Given the description of an element on the screen output the (x, y) to click on. 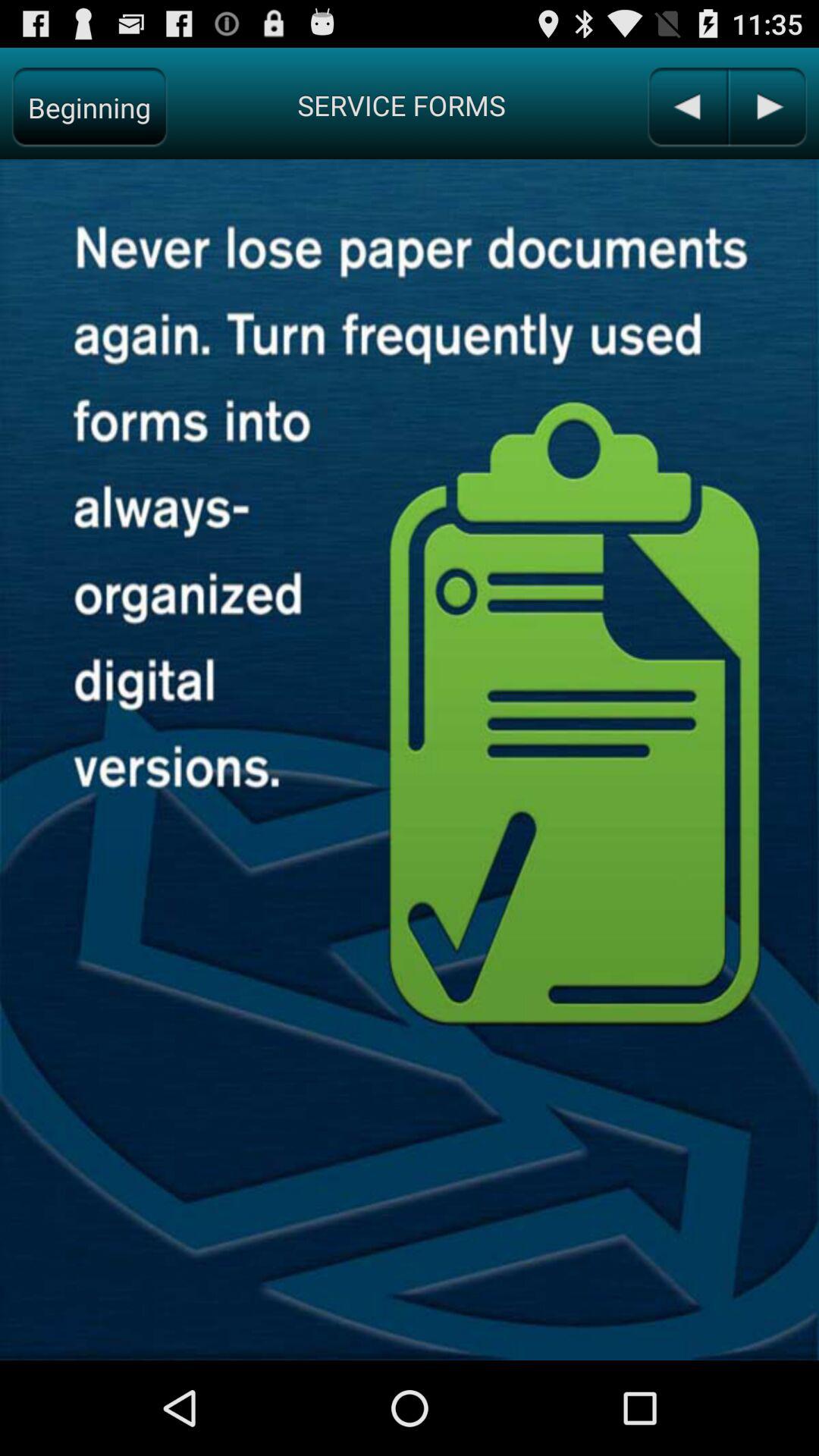
go to the previous (687, 107)
